Given the description of an element on the screen output the (x, y) to click on. 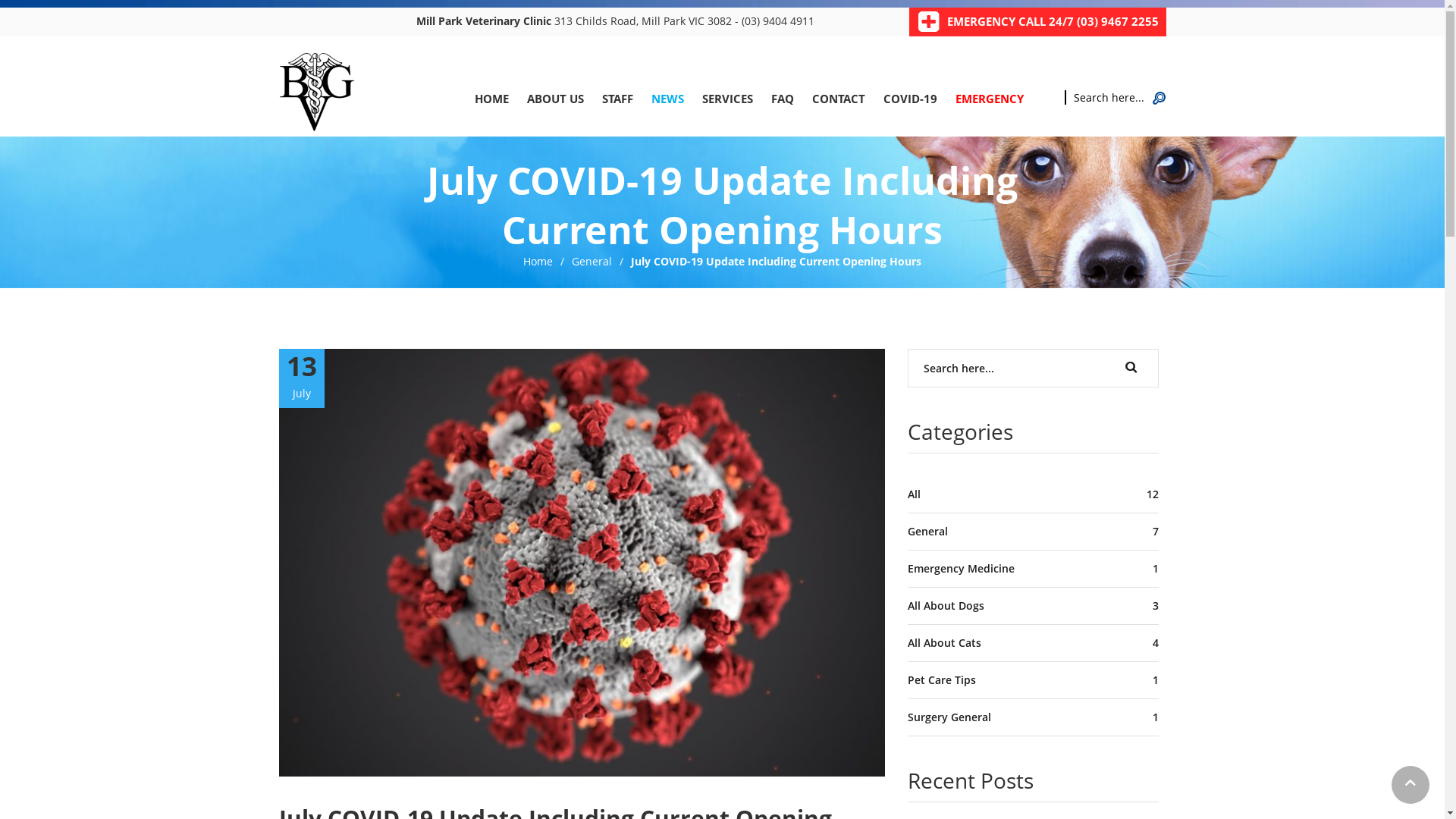
All About Dogs
3 Element type: text (1031, 605)
EMERGENCY CALL 24/7 (03) 9467 2255 Element type: text (1051, 20)
CONTACT Element type: text (837, 98)
All About Cats
4 Element type: text (1031, 643)
General
7 Element type: text (1031, 530)
Surgery General
1 Element type: text (1031, 717)
Emergency Medicine
1 Element type: text (1031, 568)
Search Element type: text (1131, 366)
General Element type: text (591, 260)
NEWS Element type: text (666, 98)
ABOUT US Element type: text (554, 98)
Search Element type: text (1159, 96)
HOME Element type: text (491, 98)
COVID-19 Element type: text (909, 98)
SERVICES Element type: text (727, 98)
Home Element type: text (537, 260)
FAQ Element type: text (781, 98)
EMERGENCY Element type: text (989, 98)
Pet Care Tips
1 Element type: text (1031, 679)
All
12 Element type: text (1031, 494)
Scroll Top Element type: text (1410, 784)
STAFF Element type: text (617, 98)
